Given the description of an element on the screen output the (x, y) to click on. 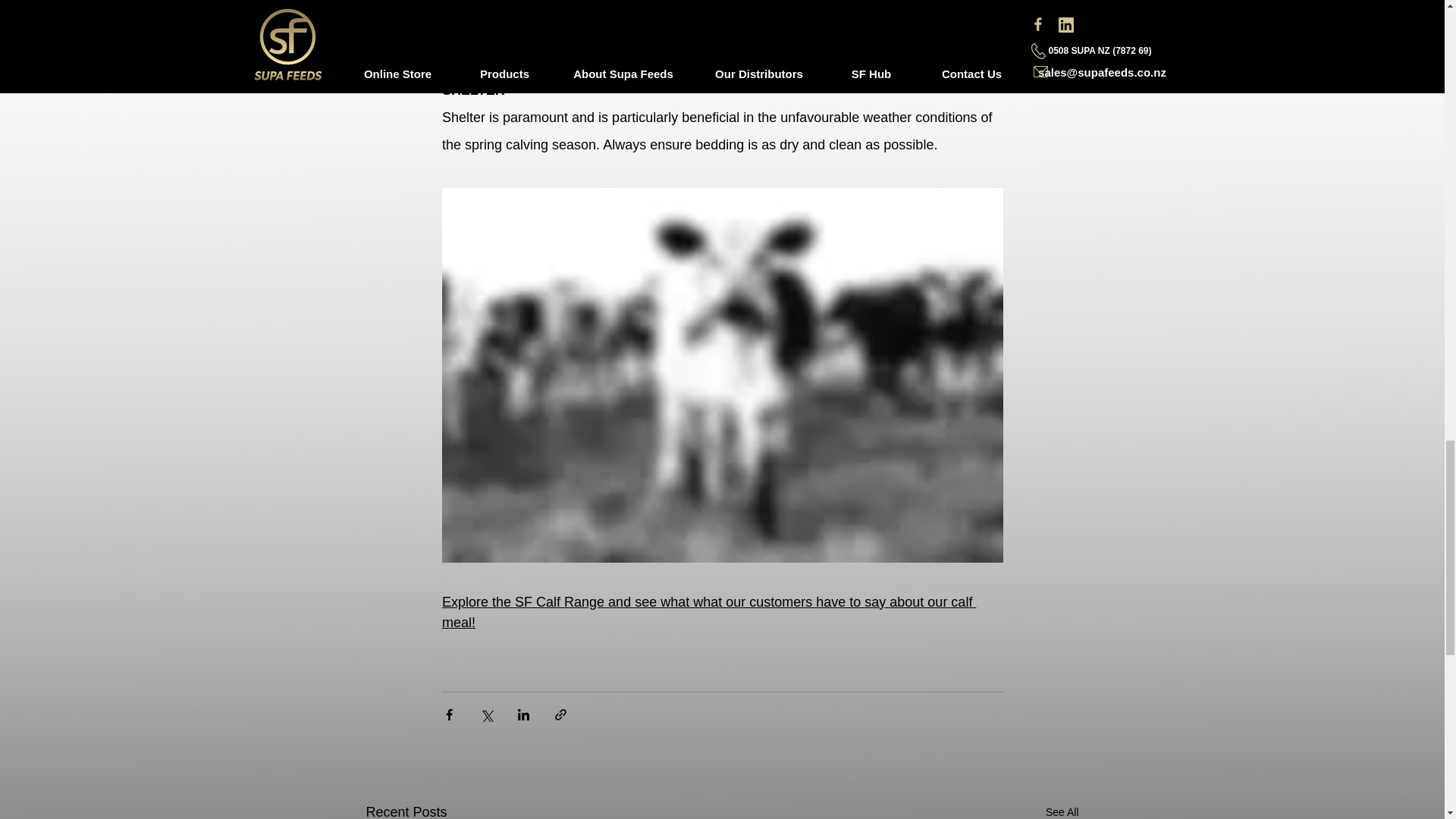
See All (1061, 810)
